Given the description of an element on the screen output the (x, y) to click on. 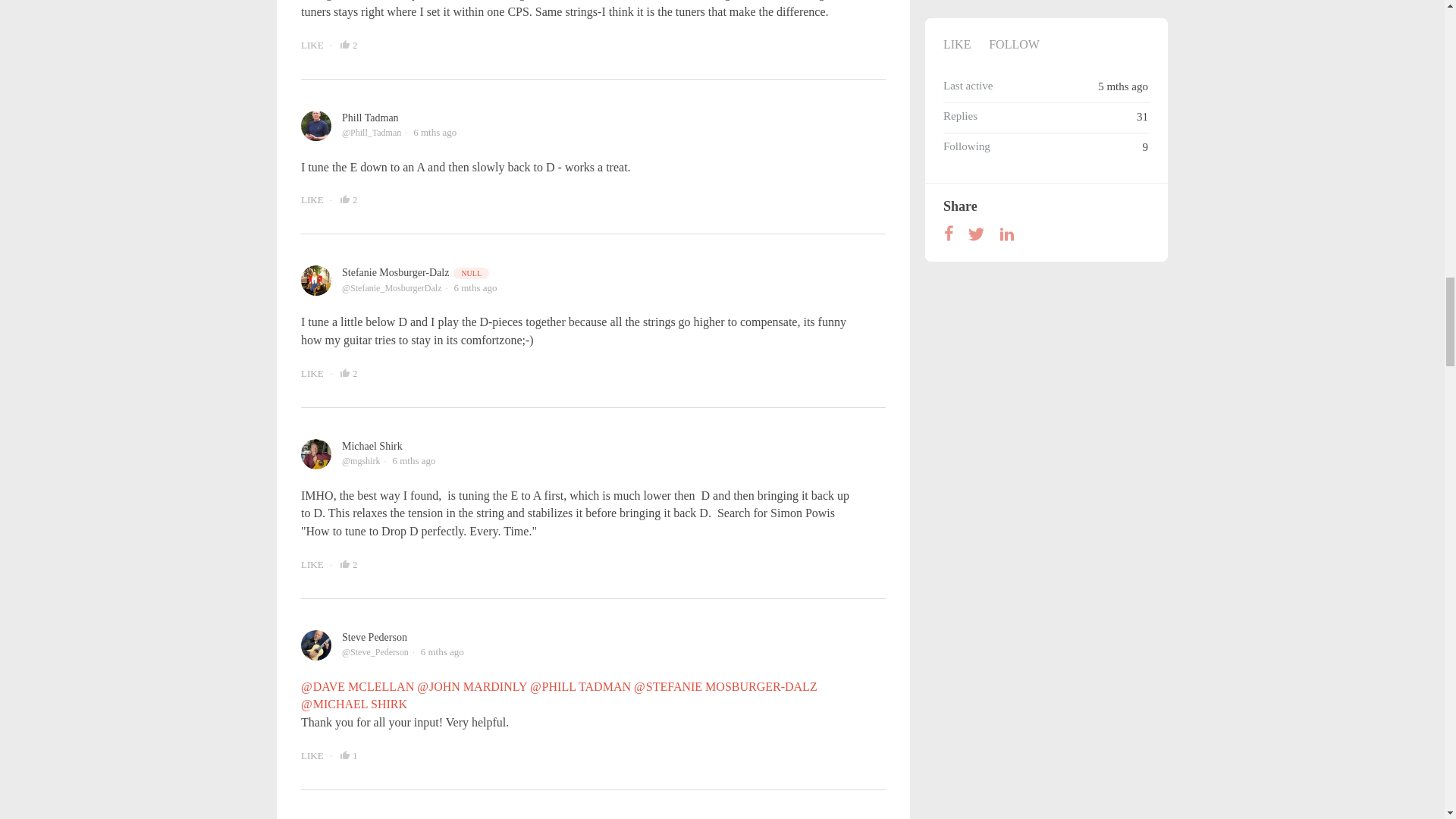
Phill Tadman (370, 117)
Steve Pederson (374, 636)
Stefanie Mosburger-DalzNULL (416, 272)
Michael Shirk (372, 446)
